Given the description of an element on the screen output the (x, y) to click on. 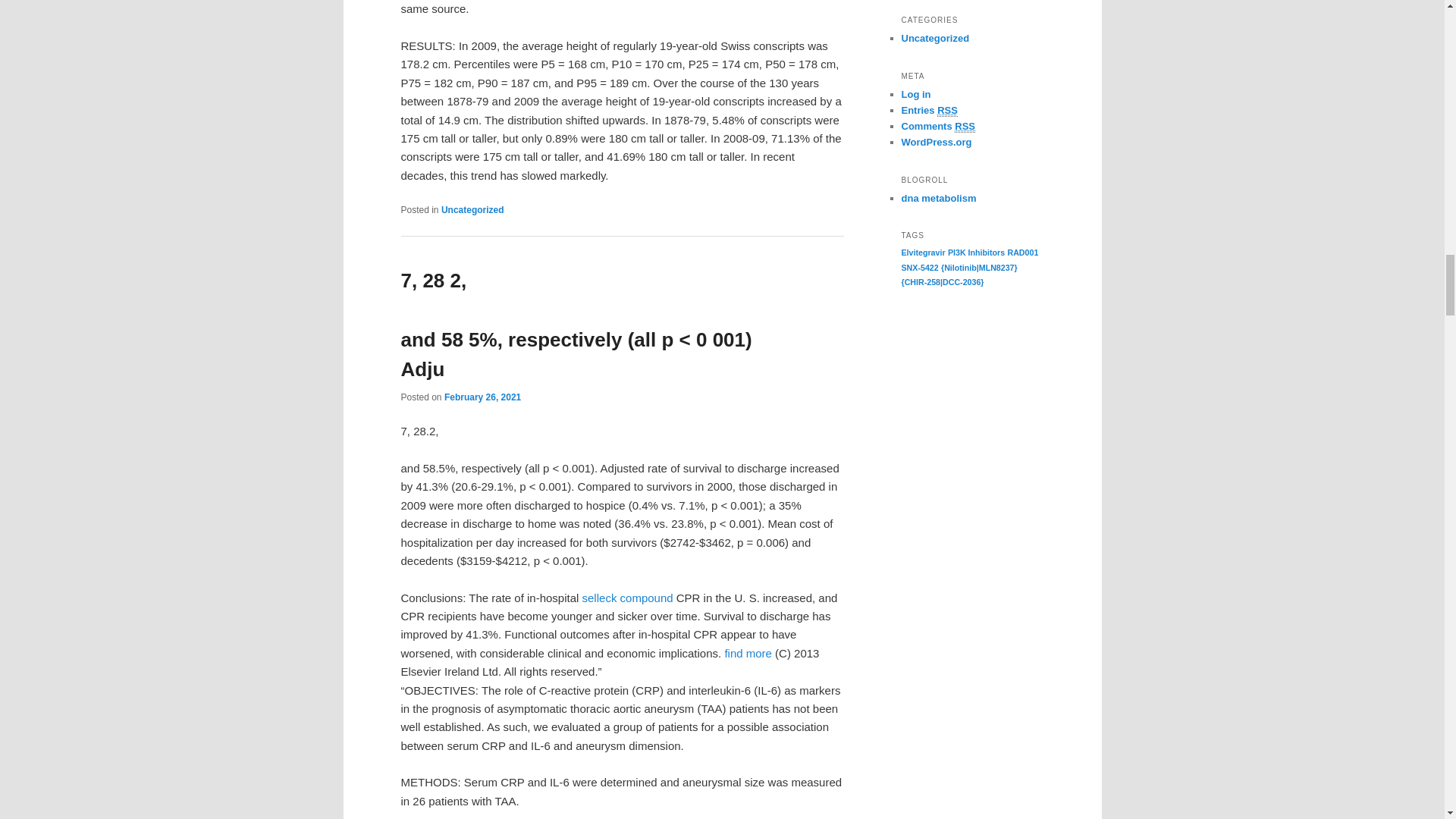
selleck compound (627, 597)
February 26, 2021 (482, 397)
Uncategorized (472, 209)
View all posts in Uncategorized (472, 209)
find more (747, 653)
